Given the description of an element on the screen output the (x, y) to click on. 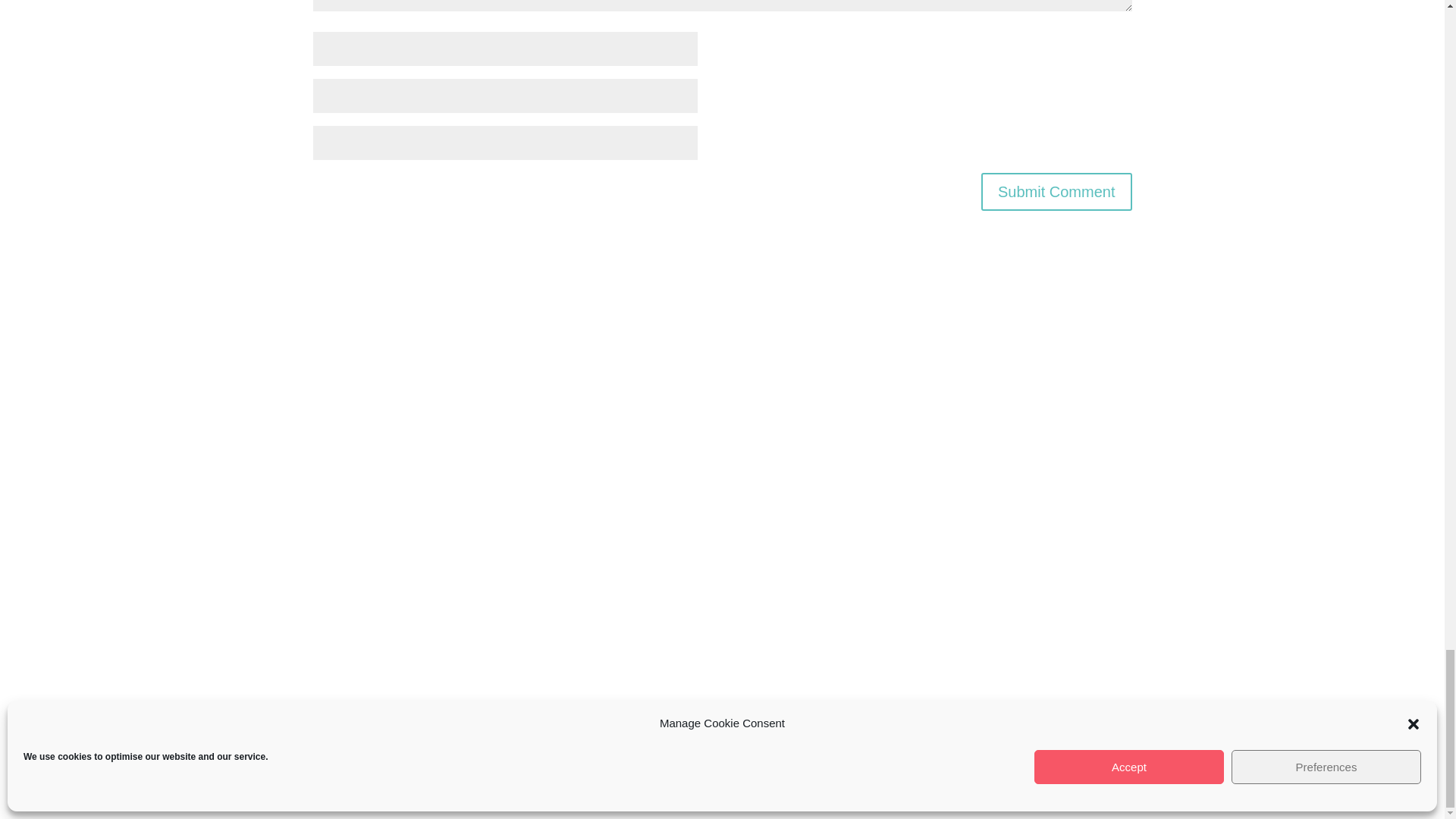
Submit Comment (1056, 191)
